Given the description of an element on the screen output the (x, y) to click on. 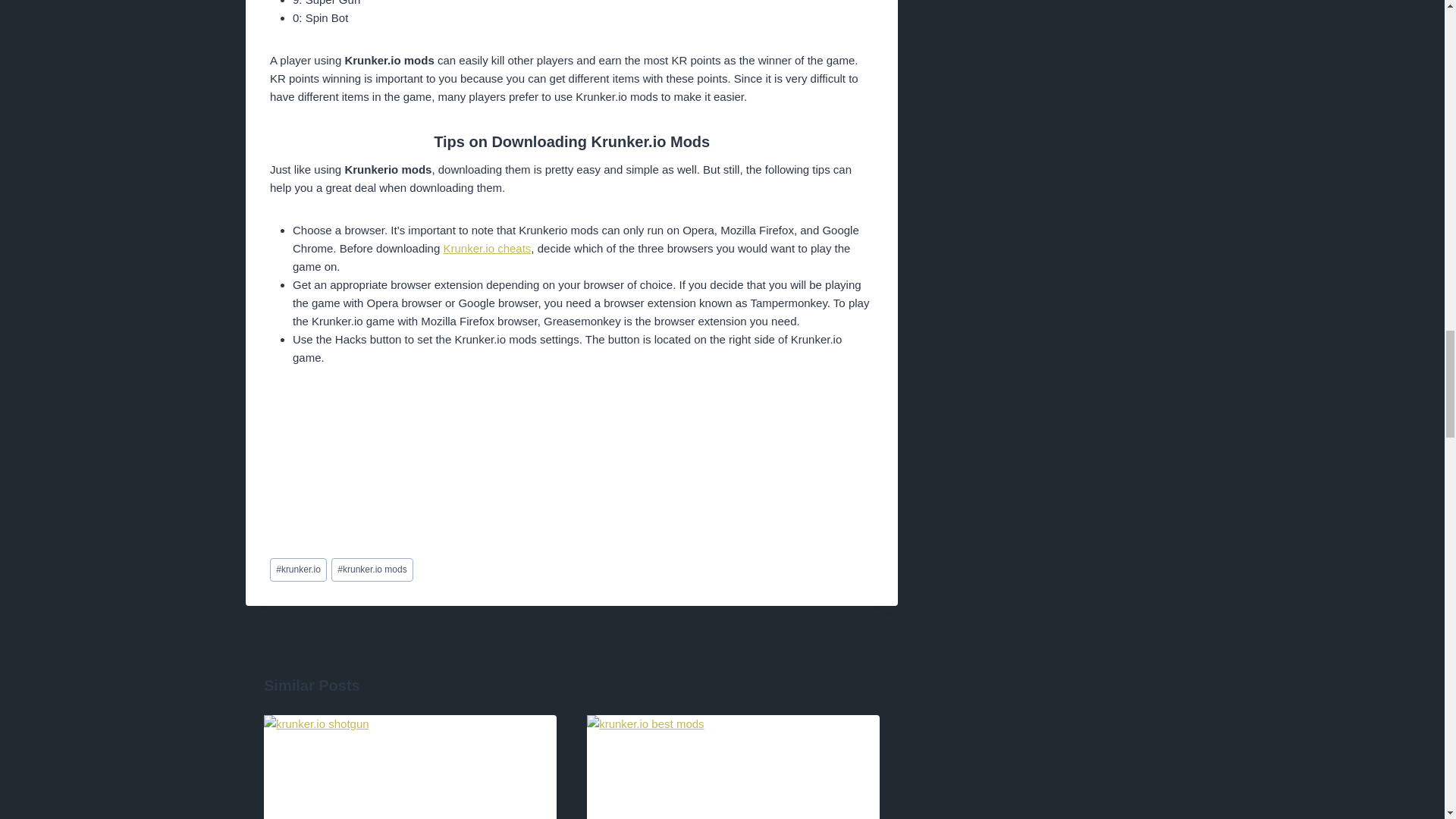
krunker.io mods (372, 569)
Krunker.io cheats (486, 247)
krunker.io (297, 569)
